Given the description of an element on the screen output the (x, y) to click on. 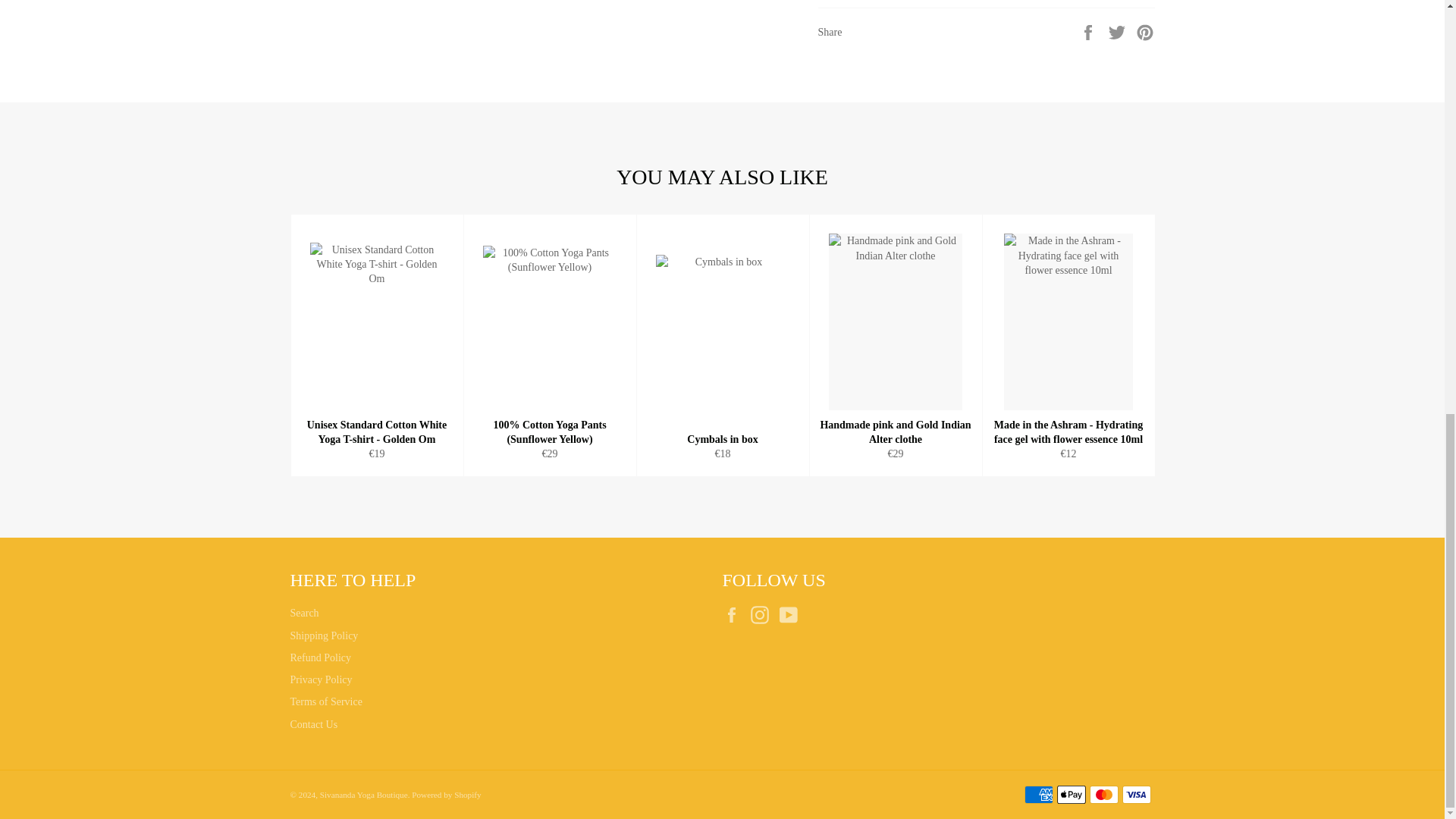
Sivananda Yoga Boutique on Facebook (735, 615)
Sivananda Yoga Boutique on YouTube (791, 615)
Sivananda Yoga Boutique on Instagram (763, 615)
Tweet on Twitter (1118, 30)
Share on Facebook (1089, 30)
Pin on Pinterest (1144, 30)
